Given the description of an element on the screen output the (x, y) to click on. 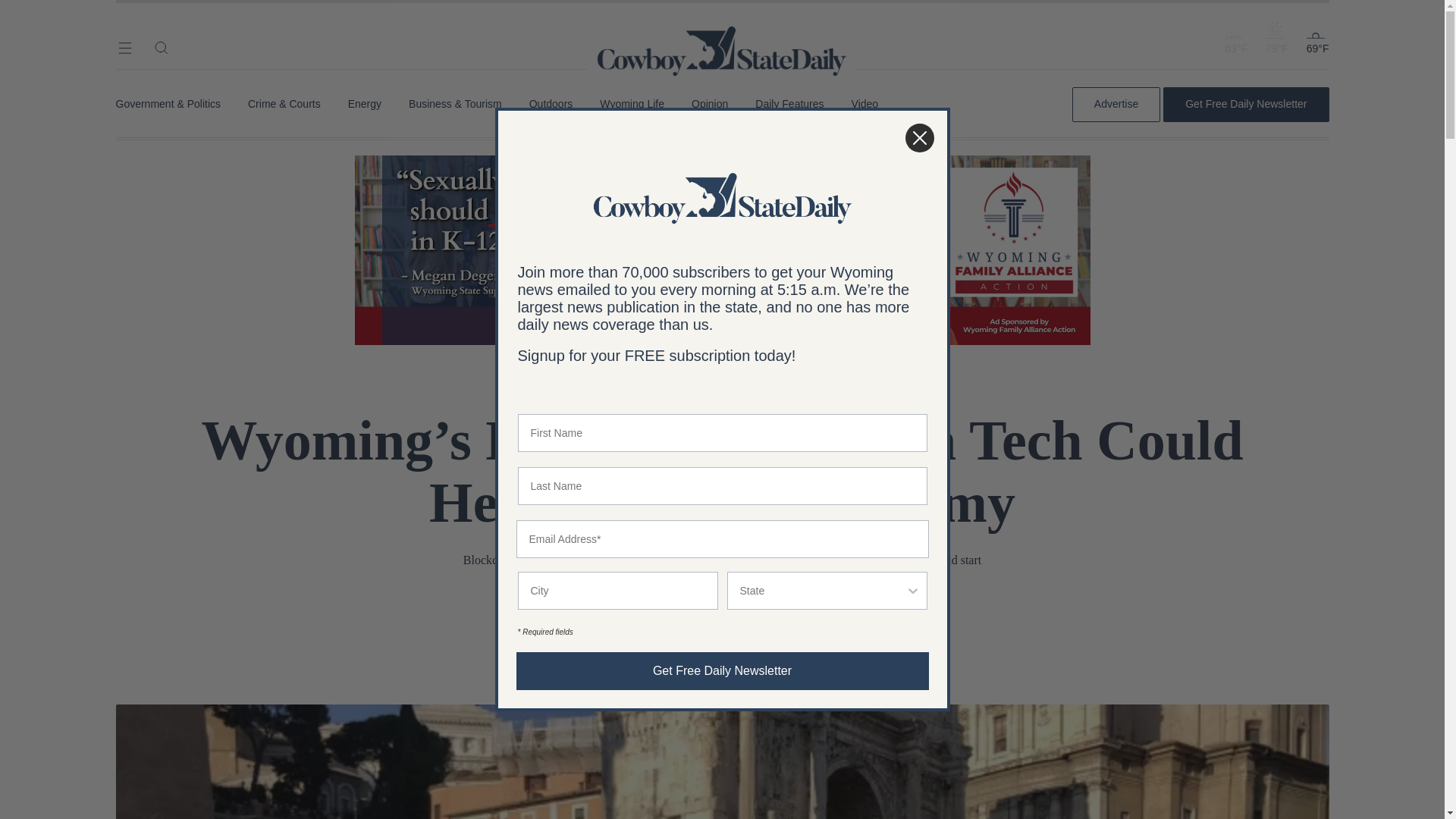
Advertise (1115, 104)
Menu (124, 47)
Daily Features (789, 104)
Get Free Daily Newsletter (1245, 104)
Close dialog 1 (919, 137)
Go to homepage (721, 30)
Wyoming Life (631, 104)
Search (160, 47)
